Given the description of an element on the screen output the (x, y) to click on. 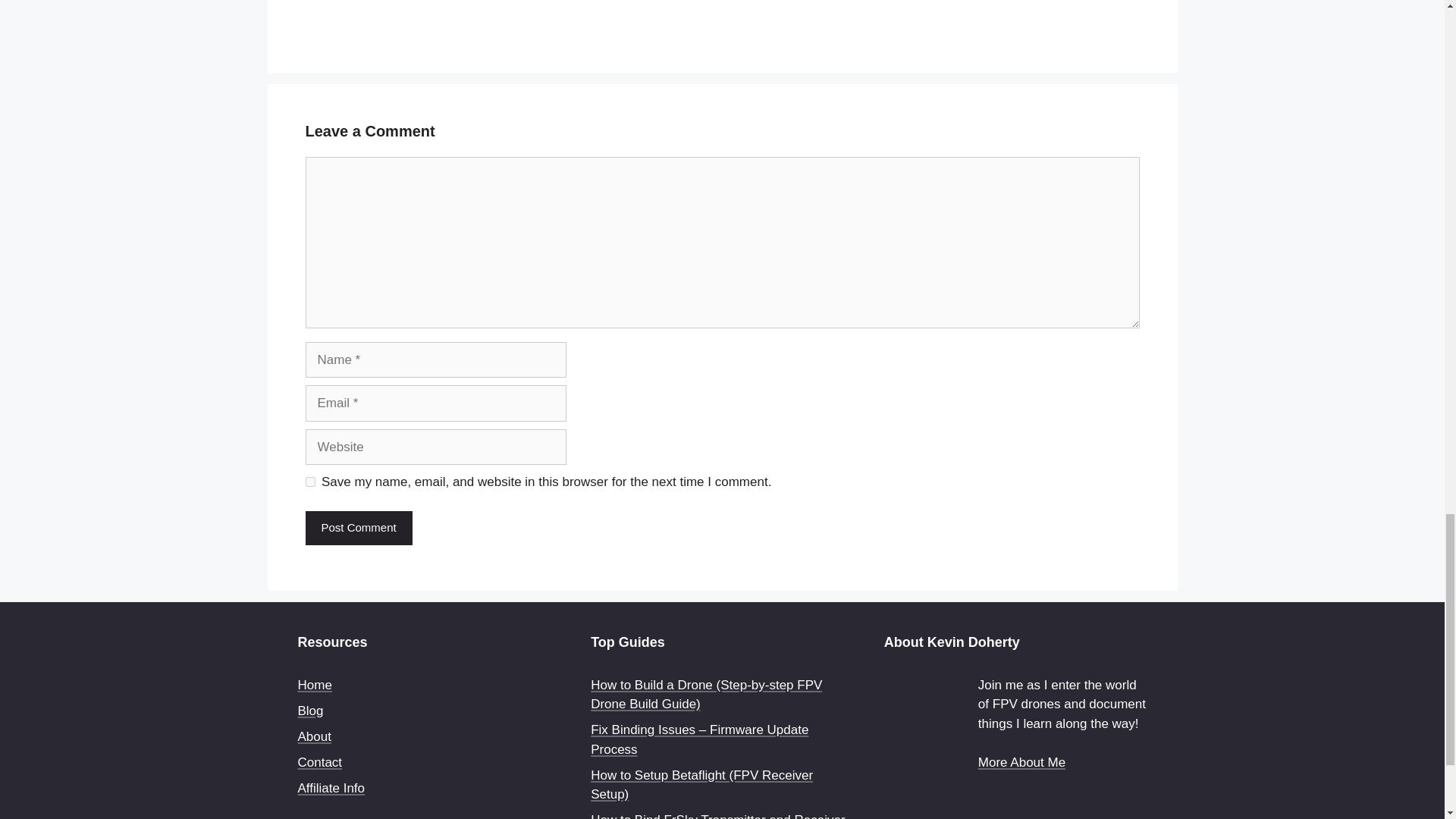
yes (309, 481)
Blog (310, 710)
About (313, 736)
Post Comment (358, 528)
More About Me (1021, 762)
Affiliate Info (331, 788)
Post Comment (358, 528)
Contact (319, 762)
Home (314, 685)
